Given the description of an element on the screen output the (x, y) to click on. 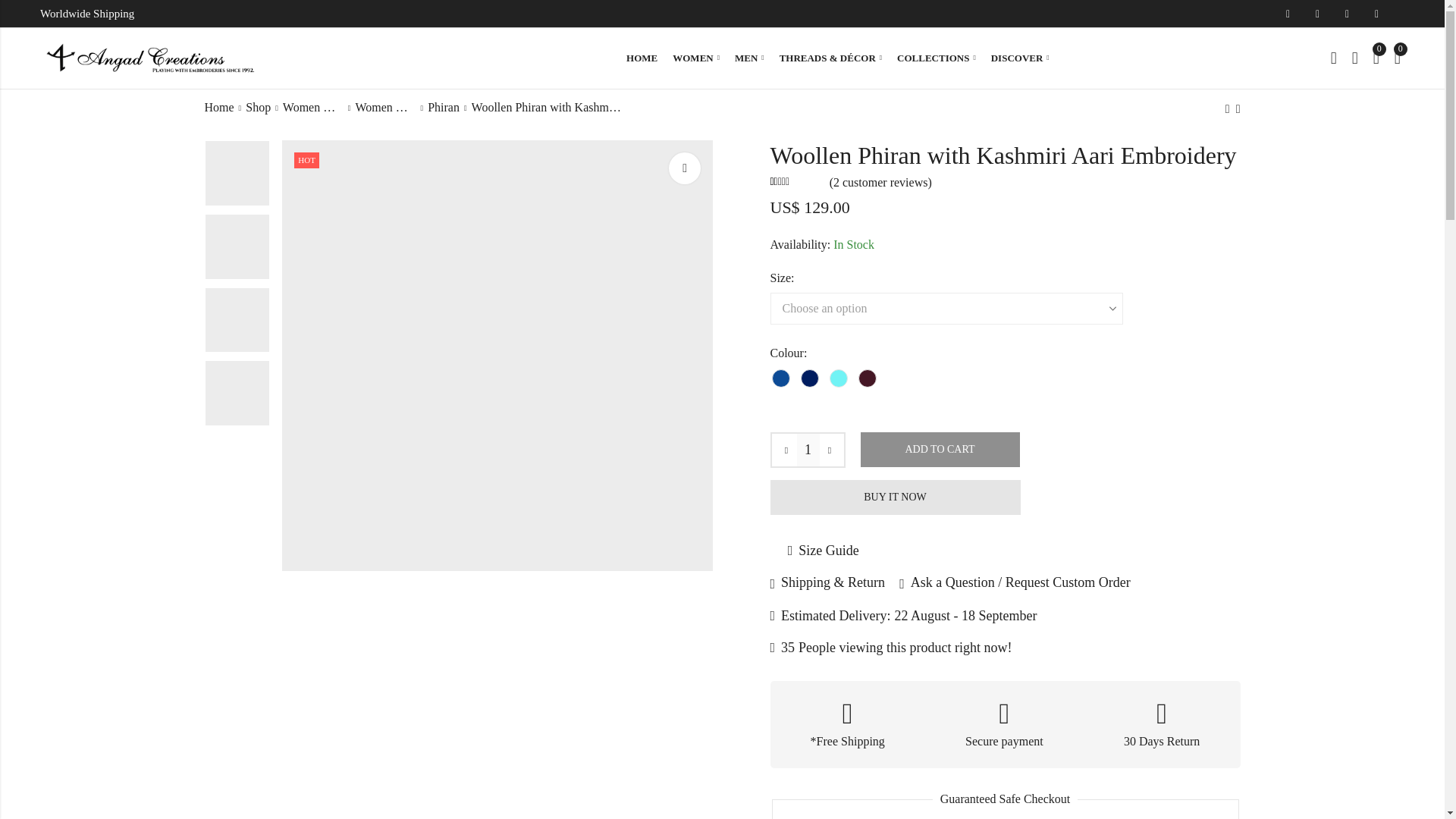
HOME (641, 58)
MEN (748, 58)
WOMEN (695, 58)
